Given the description of an element on the screen output the (x, y) to click on. 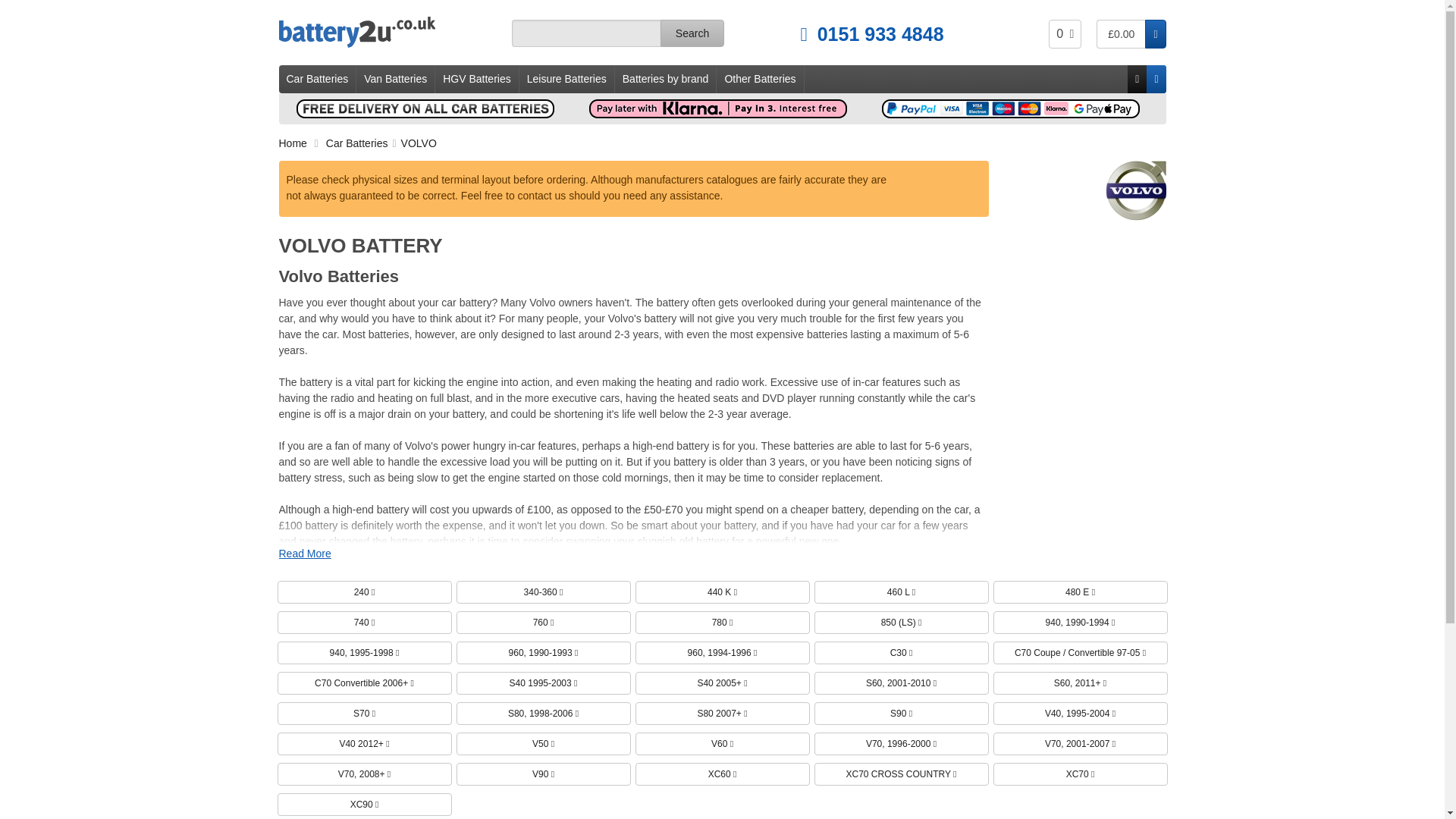
Car Batteries (1064, 33)
0151 933 4848 (317, 78)
Go to homepage (833, 30)
Battery2u (389, 31)
Go to basket (389, 31)
Search (1131, 33)
